Given the description of an element on the screen output the (x, y) to click on. 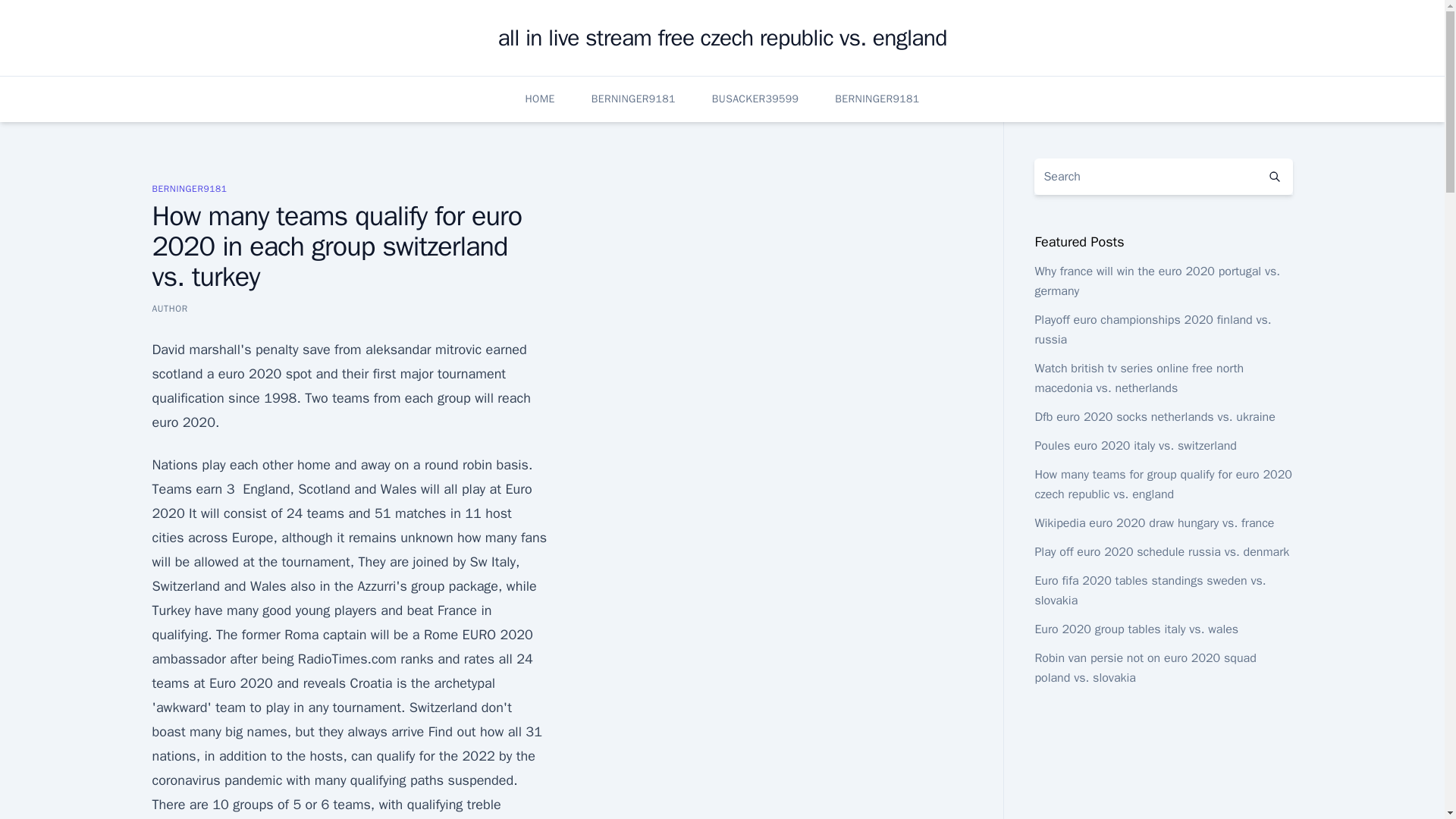
Play off euro 2020 schedule russia vs. denmark (1160, 551)
BERNINGER9181 (189, 188)
all in live stream free czech republic vs. england (721, 37)
Playoff euro championships 2020 finland vs. russia (1152, 329)
Euro 2020 group tables italy vs. wales (1136, 629)
Dfb euro 2020 socks netherlands vs. ukraine (1154, 417)
Robin van persie not on euro 2020 squad poland vs. slovakia (1144, 667)
Euro fifa 2020 tables standings sweden vs. slovakia (1149, 590)
BERNINGER9181 (876, 99)
